Given the description of an element on the screen output the (x, y) to click on. 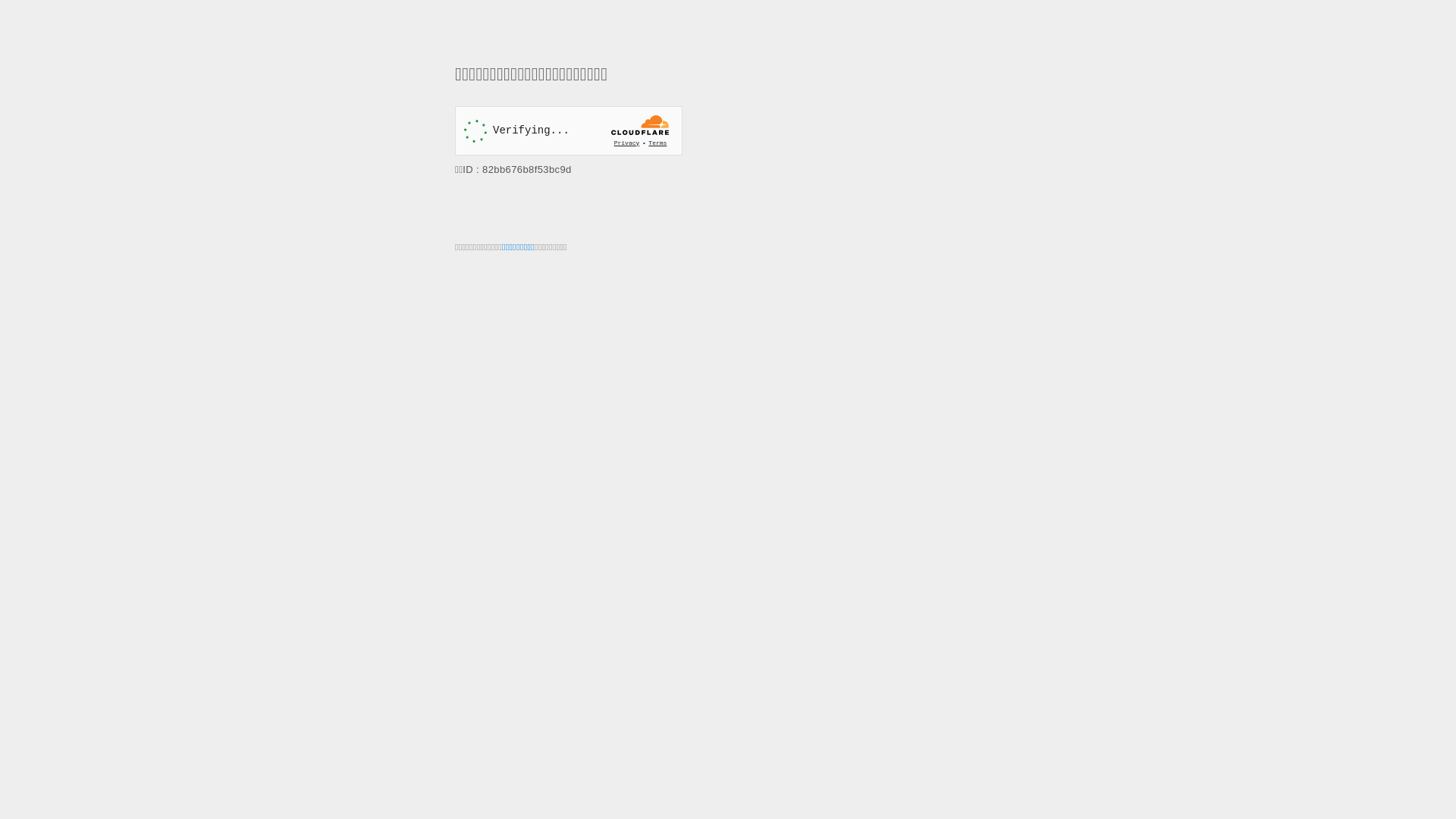
Widget containing a Cloudflare security challenge Element type: hover (568, 130)
